Given the description of an element on the screen output the (x, y) to click on. 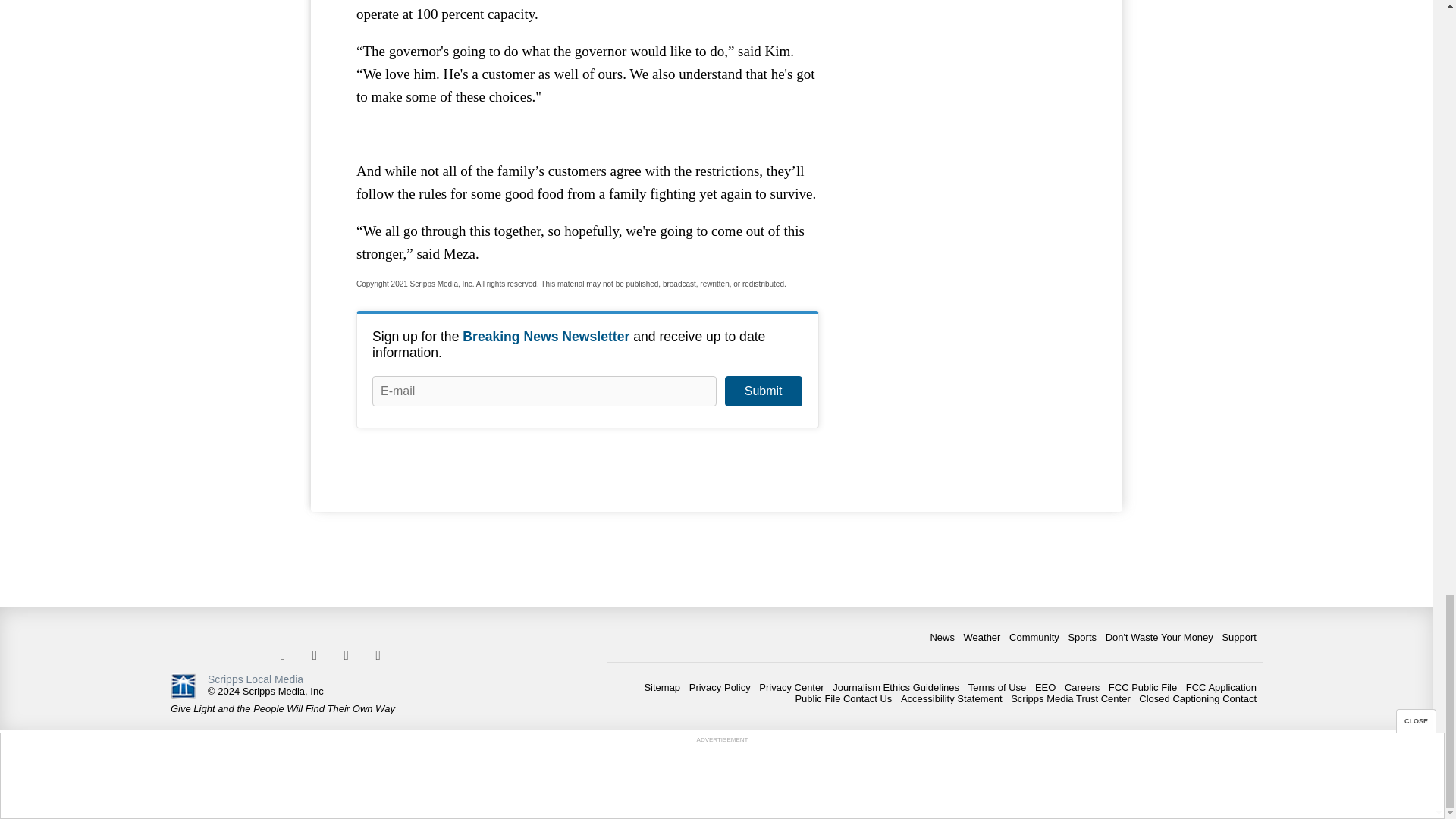
Submit (763, 390)
